Given the description of an element on the screen output the (x, y) to click on. 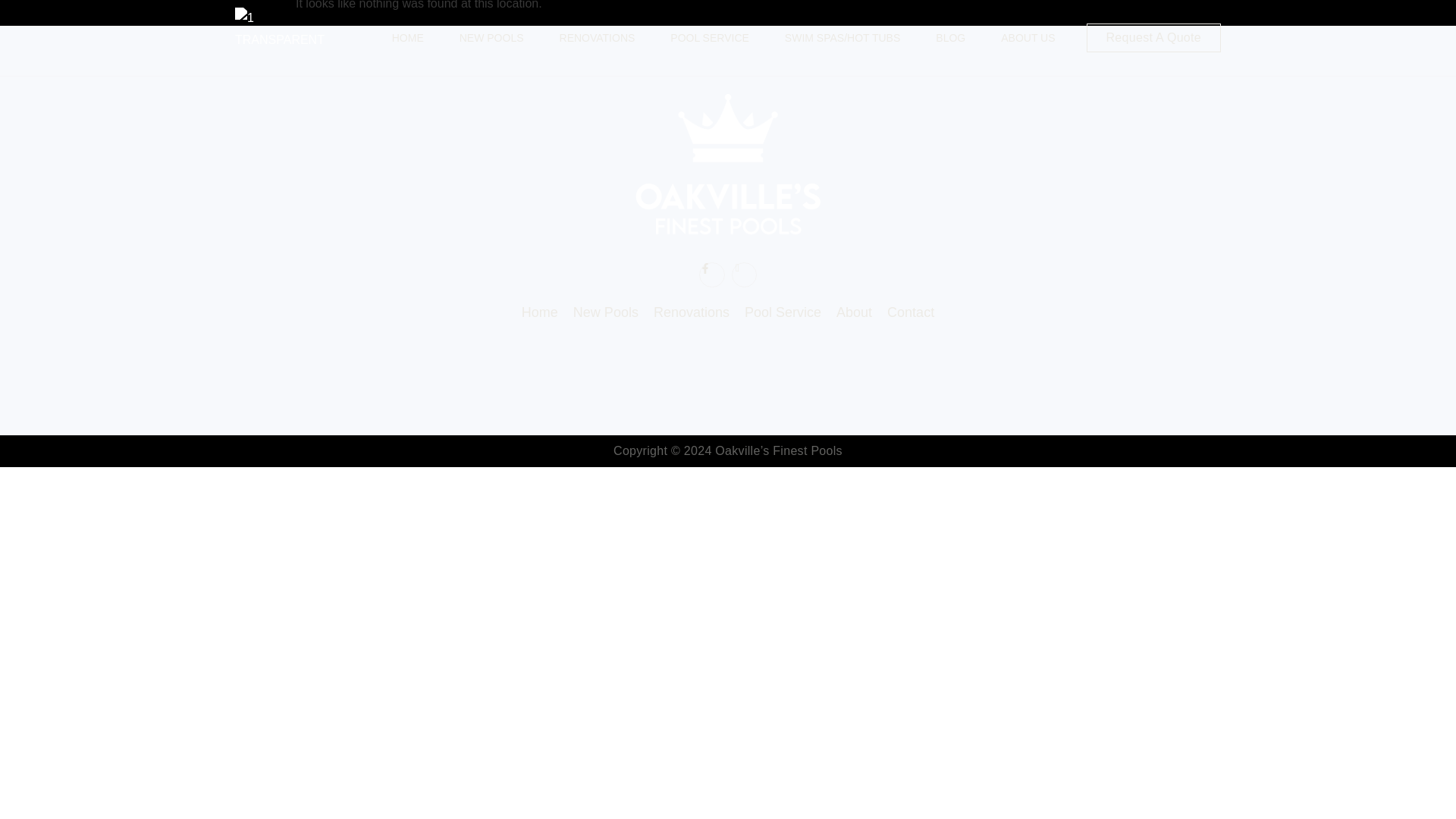
Request A Quote (1153, 38)
New Pools (606, 312)
RENOVATIONS (597, 37)
Home (539, 312)
NEW POOLS (491, 37)
Pool Service (782, 312)
POOL SERVICE (709, 37)
ABOUT US (1027, 37)
1 TRANSPARENT (287, 37)
About (853, 312)
